Given the description of an element on the screen output the (x, y) to click on. 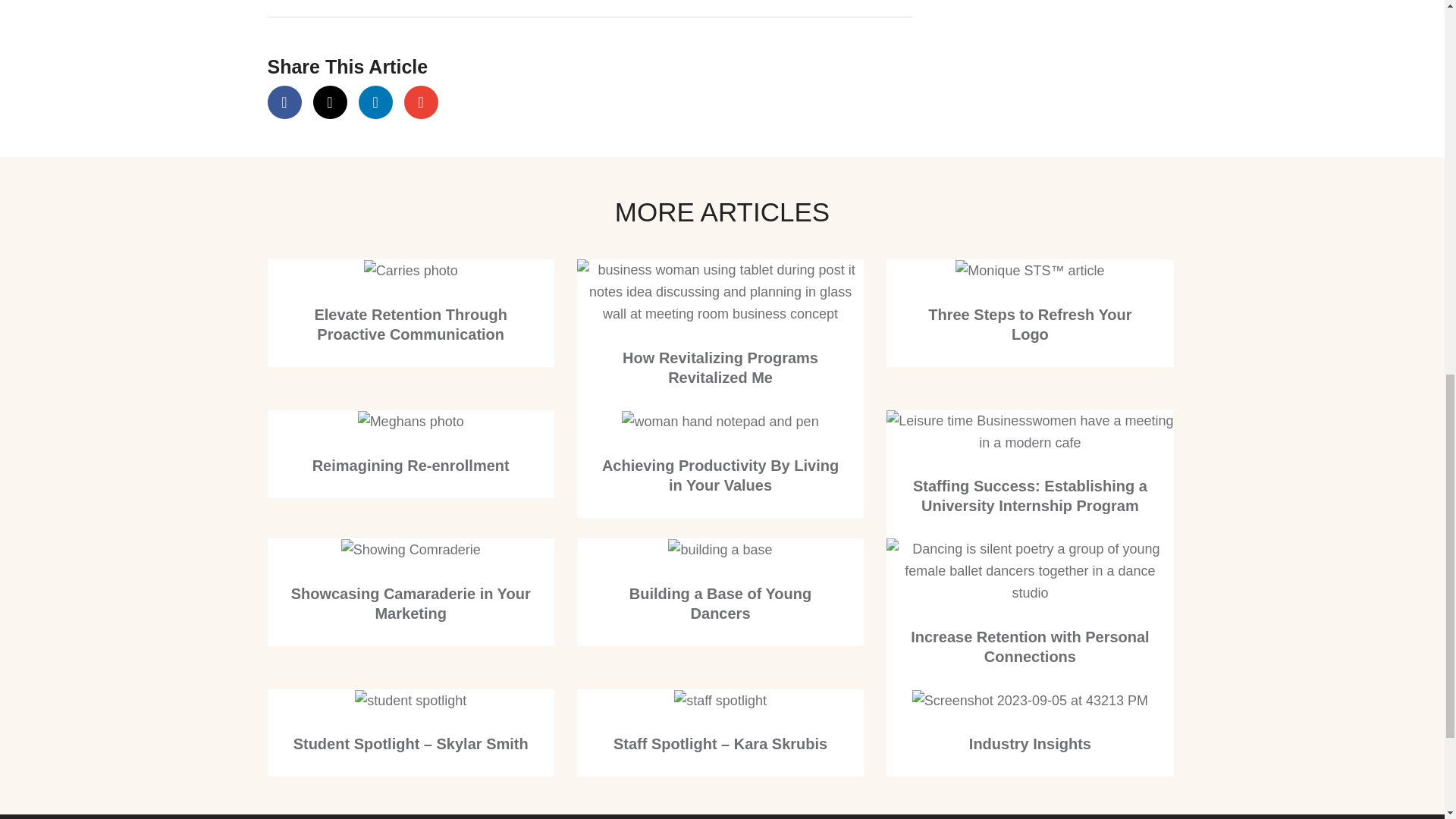
Increase Retention with Personal Connections (1030, 646)
Elevate Retention Through Proactive Communication (410, 324)
Share on twitter (329, 101)
Reimagining Re-enrollment (411, 464)
How Revitalizing Programs Revitalized Me (719, 290)
How Revitalizing Programs Revitalized Me (720, 367)
Three Steps to Refresh Your Logo (1029, 324)
Carries photo (411, 270)
Achieving Productivity By Living in Your Values (720, 474)
